Given the description of an element on the screen output the (x, y) to click on. 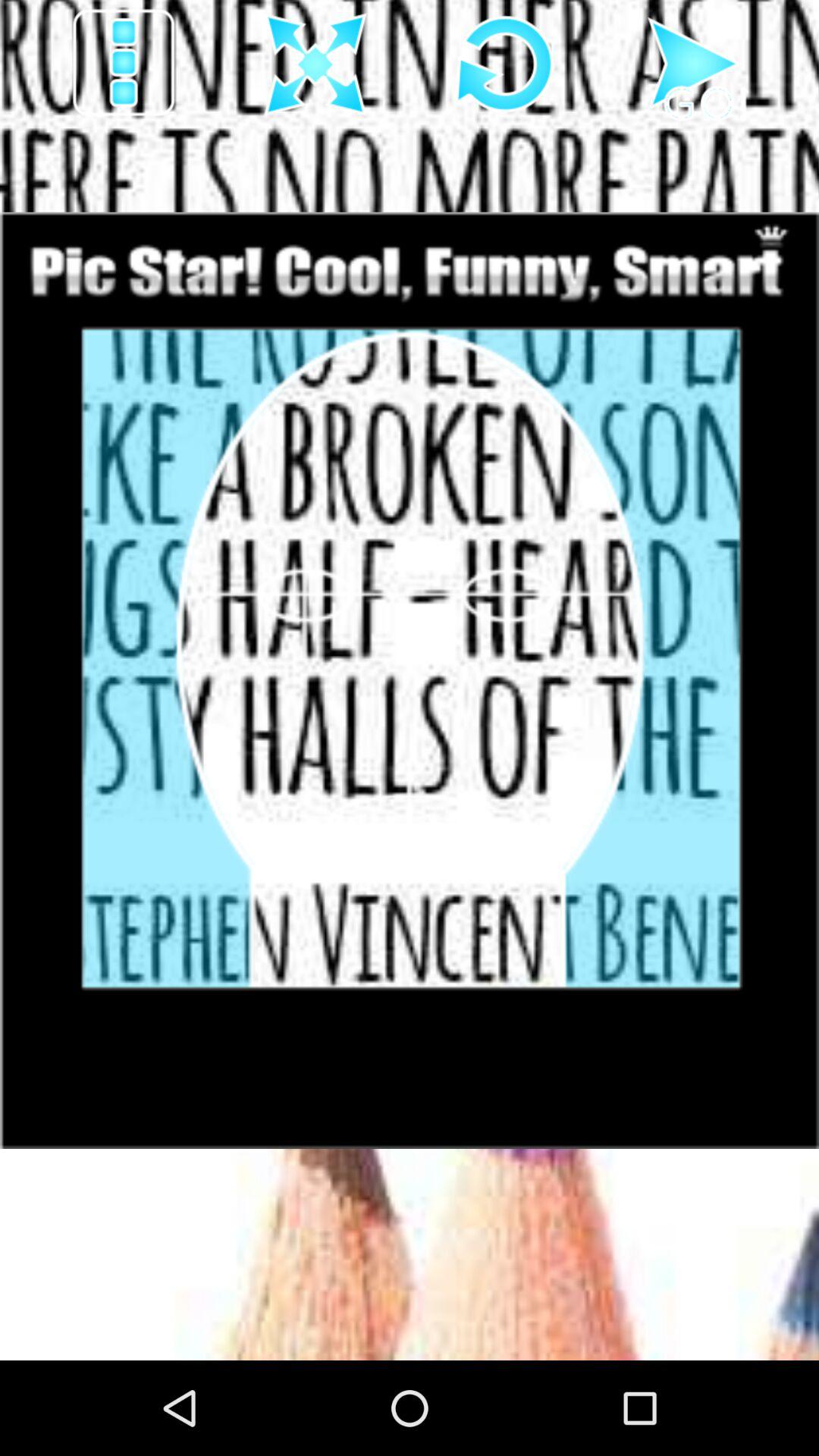
open menu (125, 64)
